Given the description of an element on the screen output the (x, y) to click on. 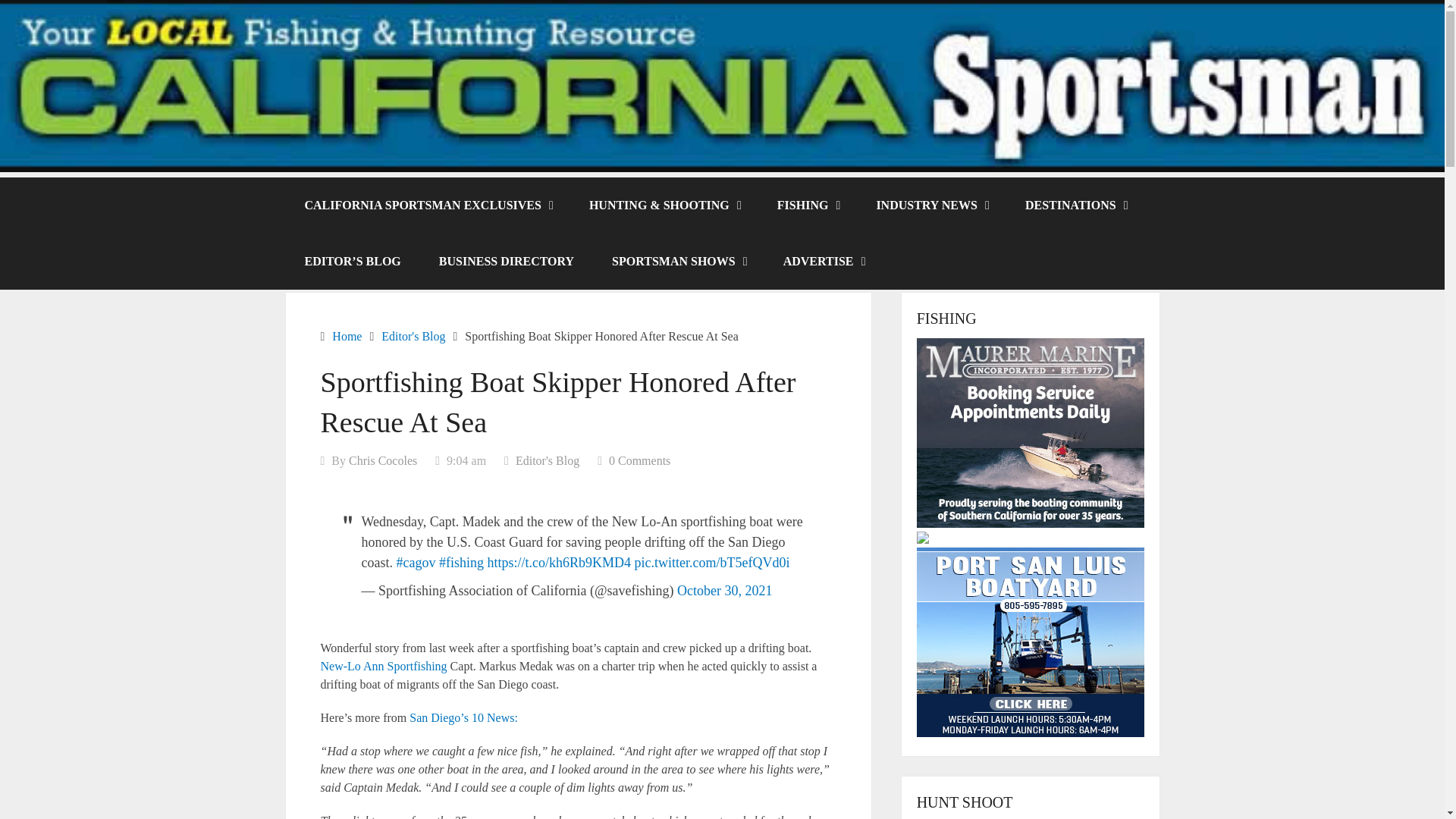
Editor's Blog (547, 460)
Home (346, 336)
Editor's Blog (413, 336)
0 Comments (638, 460)
FISHING (807, 205)
INDUSTRY NEWS (931, 205)
BUSINESS DIRECTORY (506, 261)
Chris Cocoles (382, 460)
ADVERTISE (823, 261)
Posts by Chris Cocoles (382, 460)
CALIFORNIA SPORTSMAN EXCLUSIVES (427, 205)
SPORTSMAN SHOWS (678, 261)
DESTINATIONS (1075, 205)
